Given the description of an element on the screen output the (x, y) to click on. 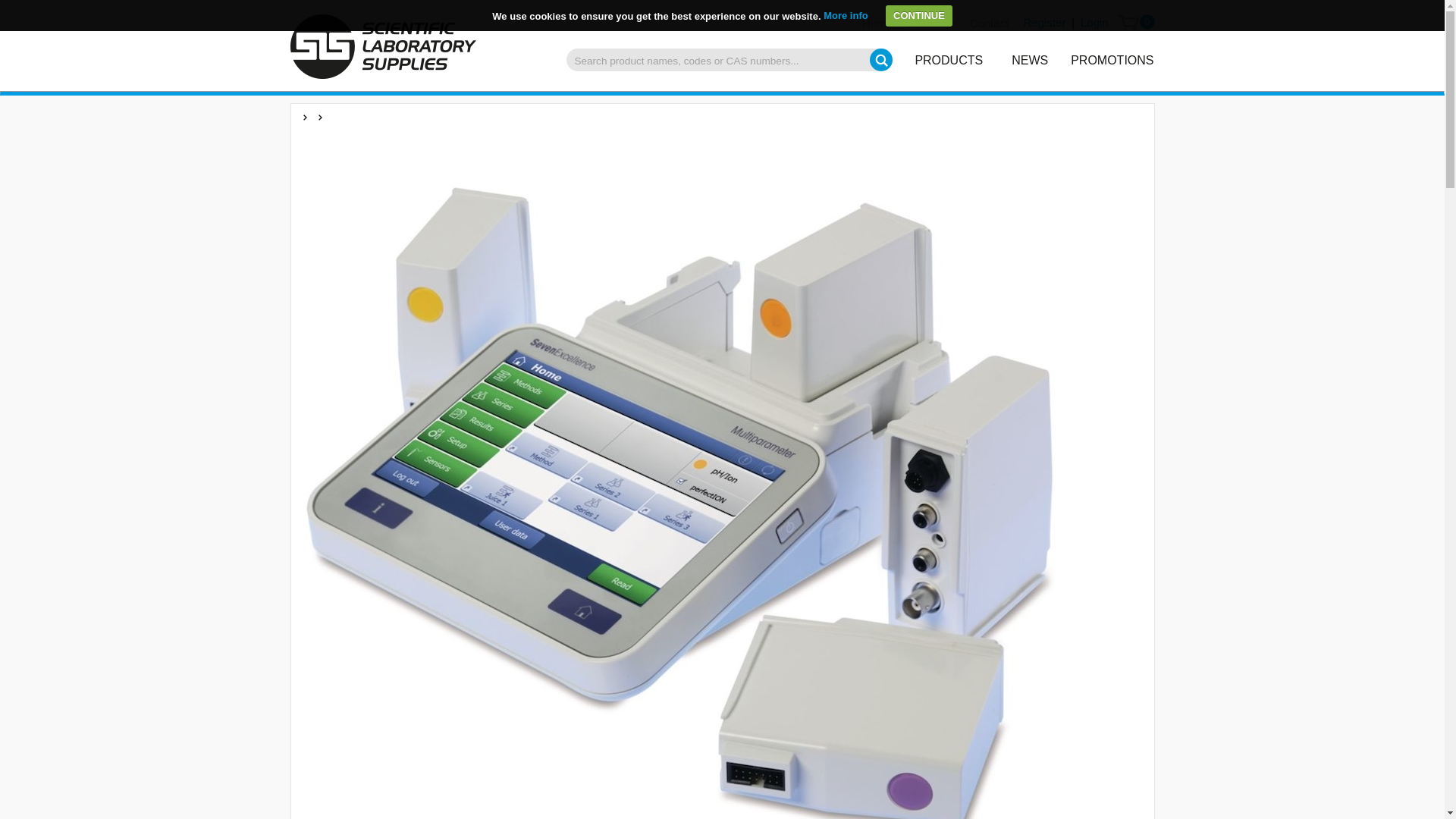
Register (1042, 22)
PROMOTIONS (1113, 59)
Auto Refresh (5, 2)
Literature (930, 23)
Home (876, 23)
NEWS (1029, 59)
0 (1131, 22)
PRODUCTS (948, 59)
CONTINUE (918, 14)
Contact (989, 23)
